Given the description of an element on the screen output the (x, y) to click on. 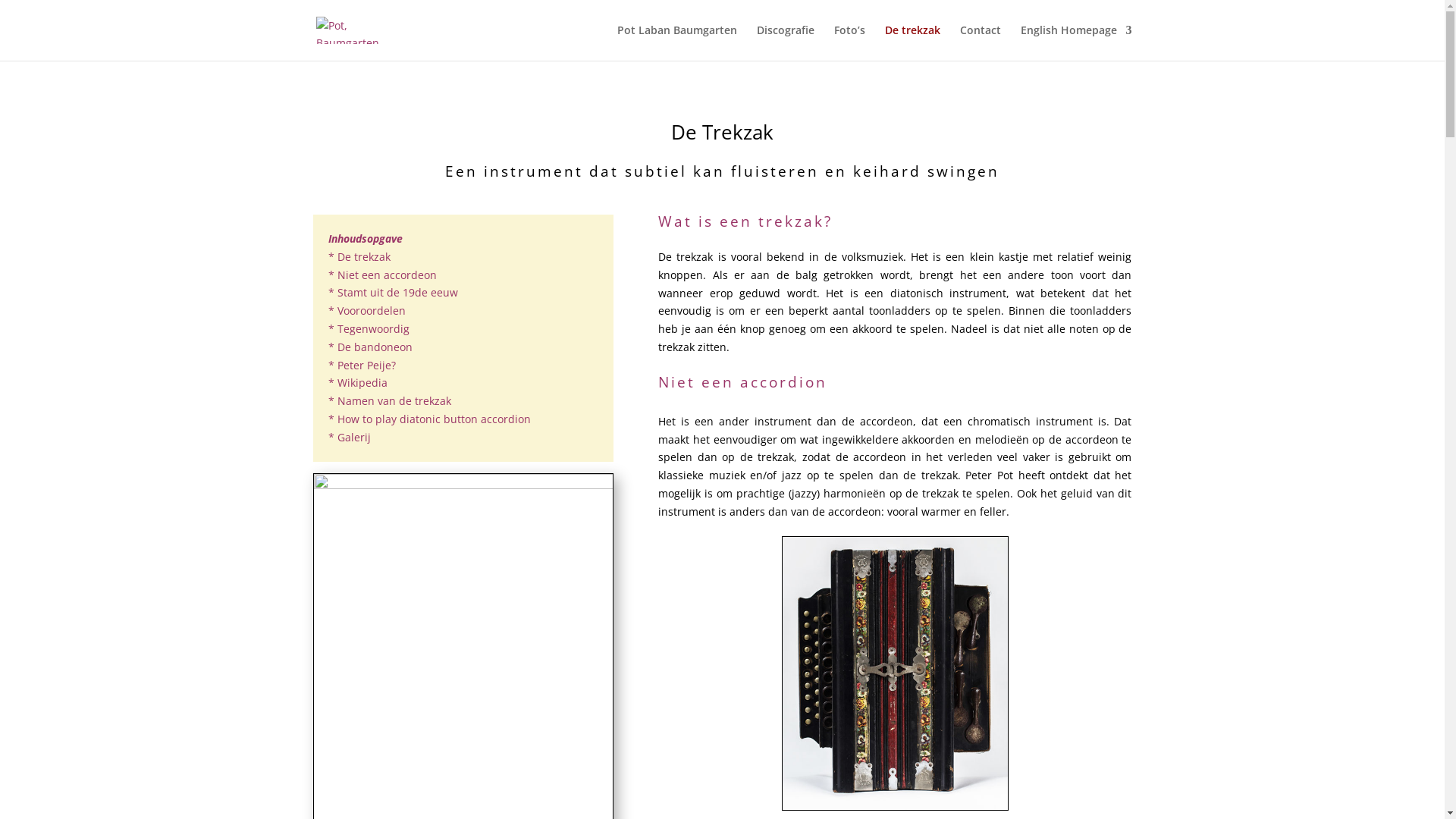
* De bandoneon Element type: text (369, 346)
* How to play diatonic button accordion Element type: text (428, 418)
* De trekzak Element type: text (358, 256)
* Peter Peije? Element type: text (361, 364)
* Wikipedia Element type: text (356, 382)
* Namen van de trekzak Element type: text (388, 400)
* Stamt uit de 19de eeuw Element type: text (392, 292)
* Niet een accordeon Element type: text (381, 274)
English Homepage Element type: text (1076, 42)
diatonic accordion 19th century Element type: hover (895, 672)
De trekzak Element type: text (911, 42)
Pot Laban Baumgarten Element type: text (677, 42)
* Tegenwoordig Element type: text (367, 328)
* Vooroordelen Element type: text (365, 310)
* Galerij Element type: text (348, 436)
Contact Element type: text (980, 42)
Discografie Element type: text (785, 42)
